Given the description of an element on the screen output the (x, y) to click on. 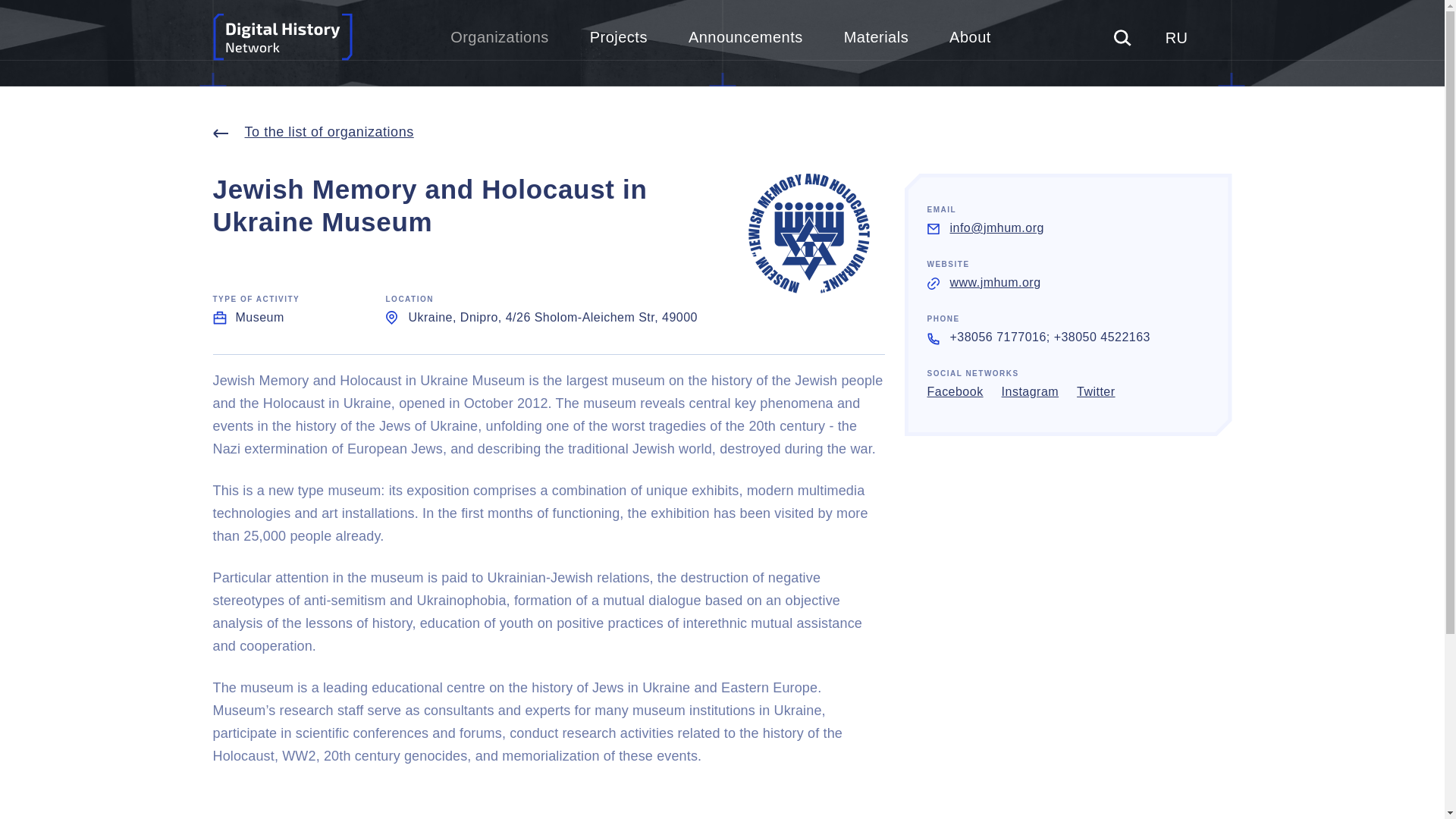
Facebook (954, 392)
www.jmhum.org (995, 282)
About (970, 38)
Materials (876, 38)
Announcements (745, 38)
Twitter (1096, 392)
Search (1122, 37)
RU (1177, 37)
Twitter (1096, 392)
To home (282, 37)
